Given the description of an element on the screen output the (x, y) to click on. 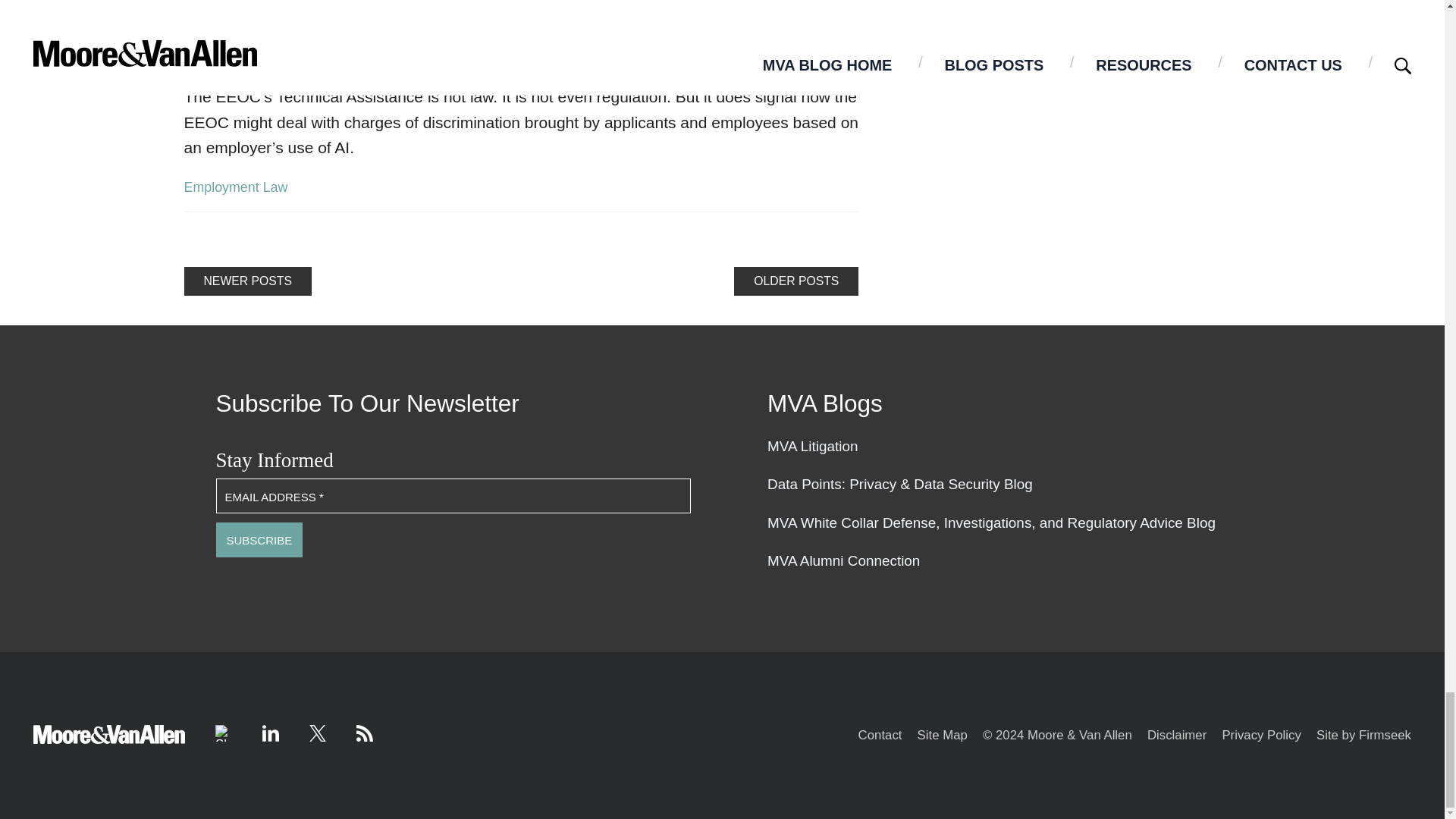
Share (223, 733)
RSS (364, 733)
LinkedIn (270, 733)
Subscribe (258, 539)
